Given the description of an element on the screen output the (x, y) to click on. 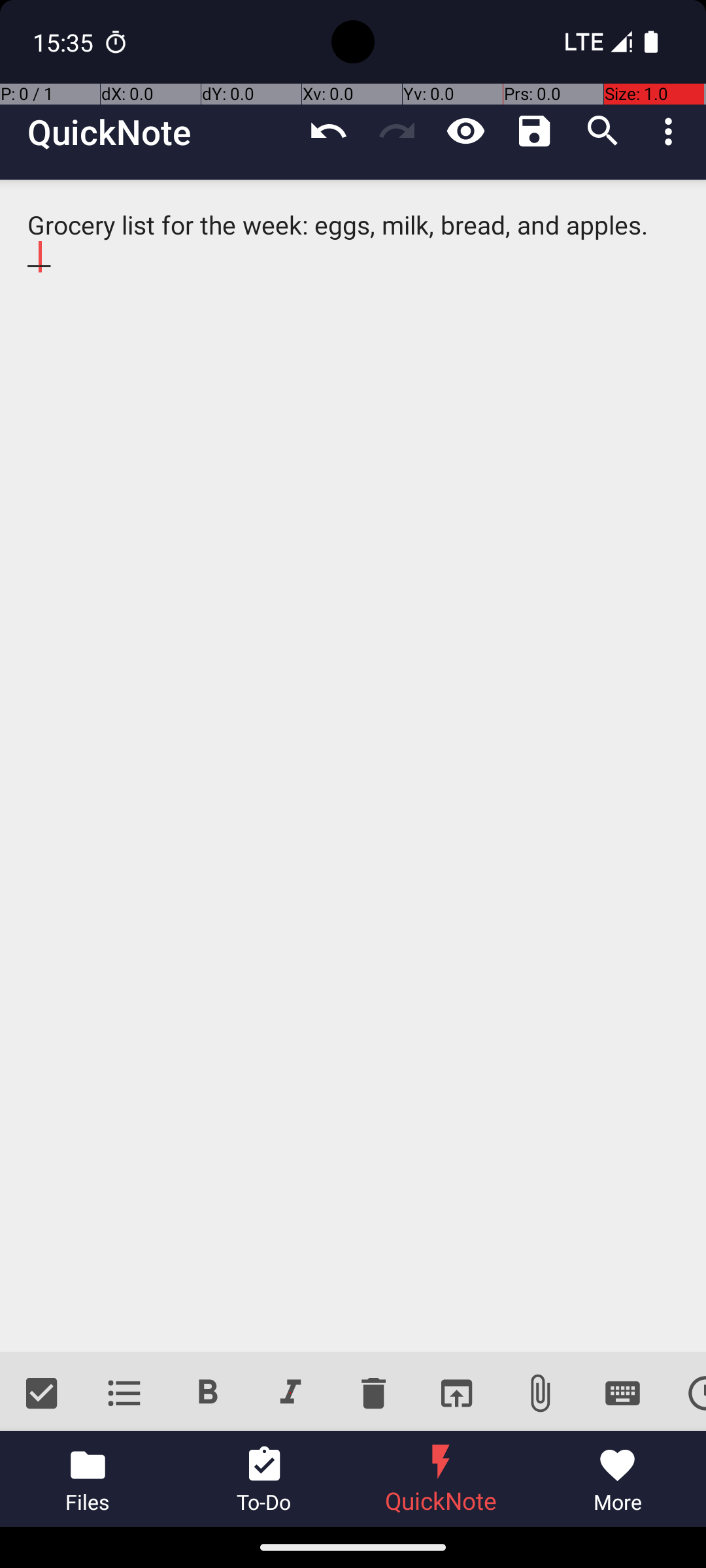
Grocery list for the week: eggs, milk, bread, and apples.
__ Element type: android.widget.EditText (353, 765)
